Given the description of an element on the screen output the (x, y) to click on. 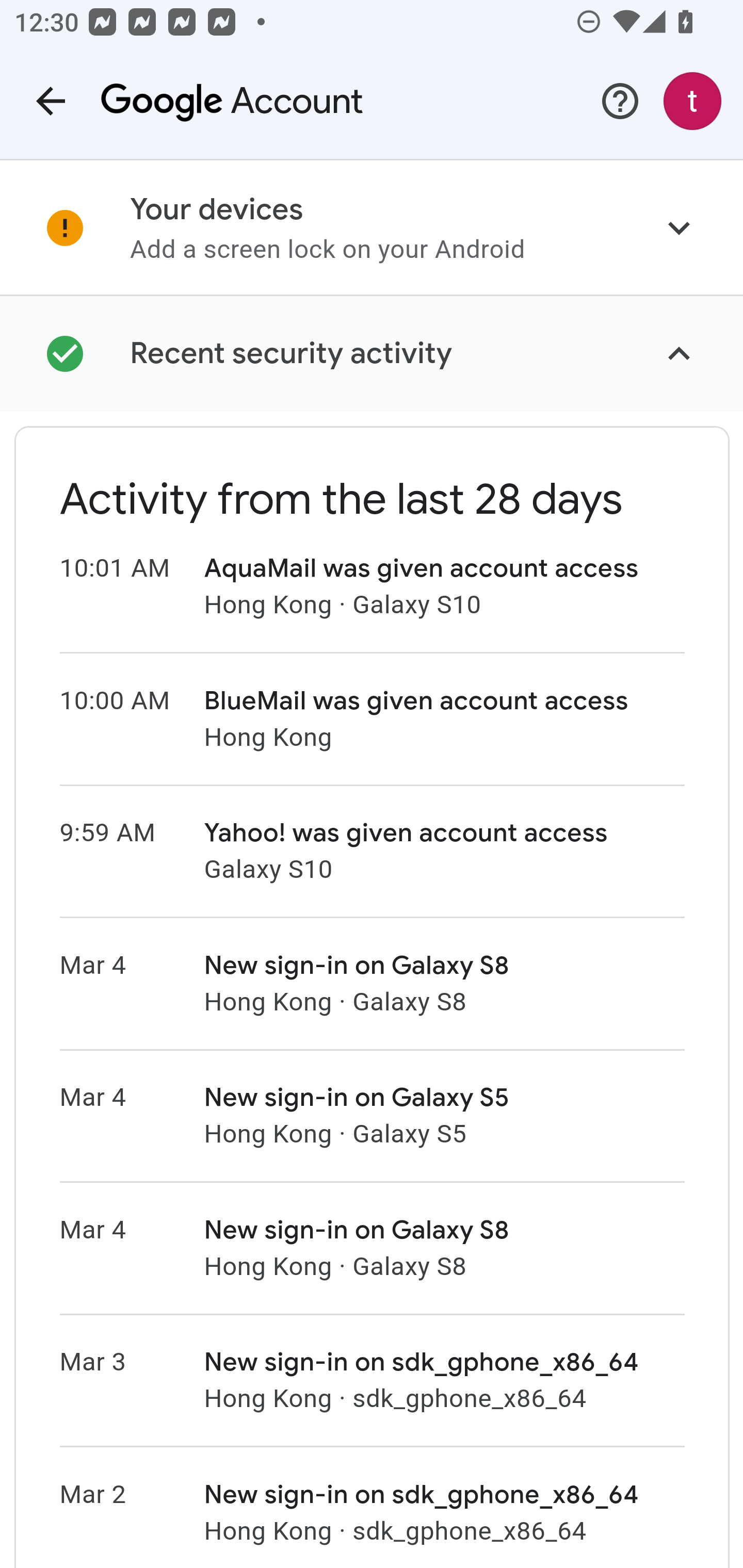
Navigate up (50, 101)
Help & feedback (619, 101)
Safe Browsing (371, 158)
No issues found in recent account activity (371, 354)
